Given the description of an element on the screen output the (x, y) to click on. 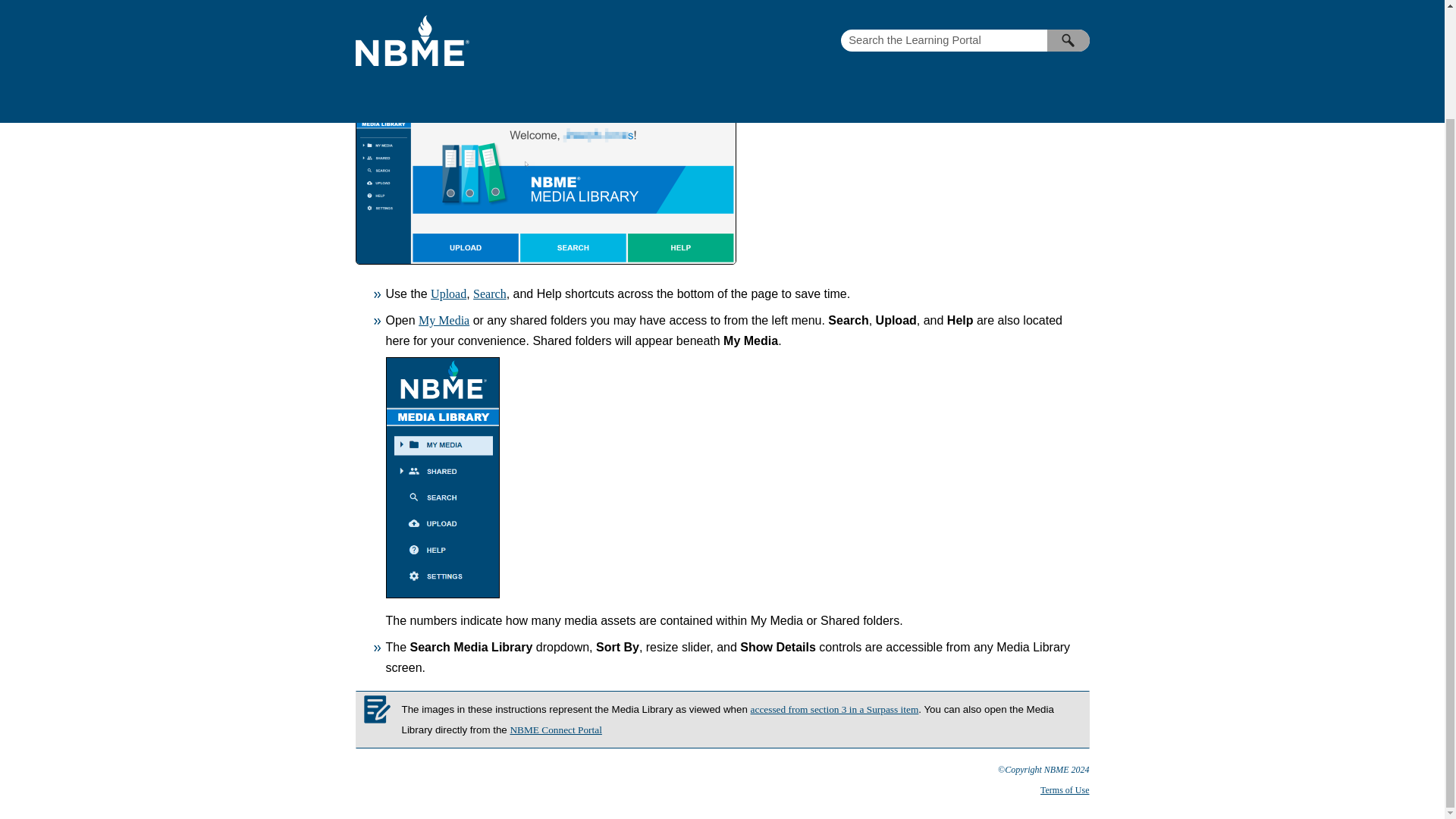
accessed from section 3 in a Surpass item (834, 708)
Media Library homepage (966, 61)
My Media (443, 319)
Search (489, 293)
Terms of Use (1065, 789)
Print Page (1063, 29)
NBME Connect Portal (555, 729)
Upload (447, 293)
